Given the description of an element on the screen output the (x, y) to click on. 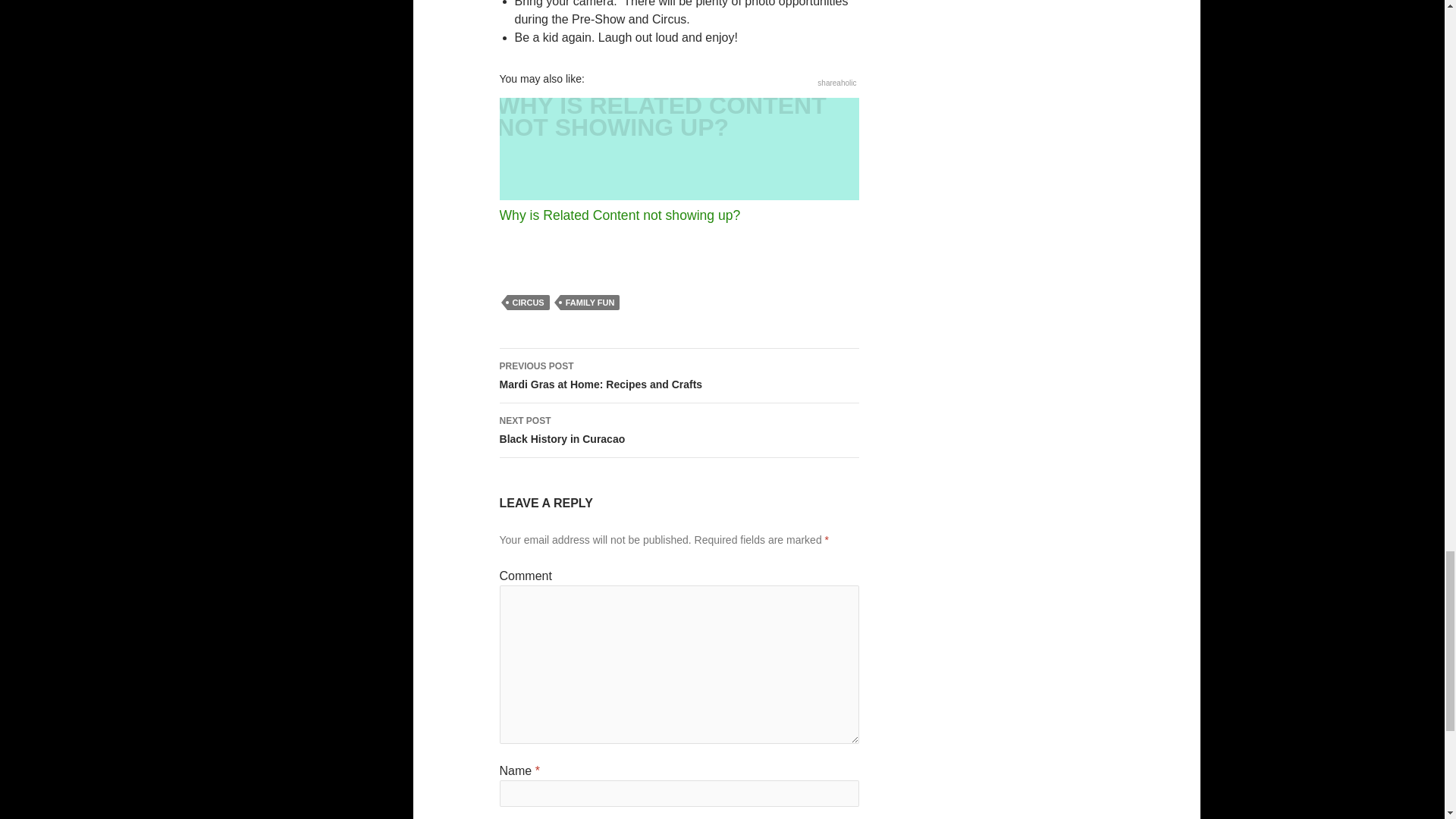
Why is Related Content not showing up? (679, 430)
FAMILY FUN (679, 160)
shareaholic (679, 375)
CIRCUS (590, 302)
Website Tools by Shareaholic (836, 82)
